Given the description of an element on the screen output the (x, y) to click on. 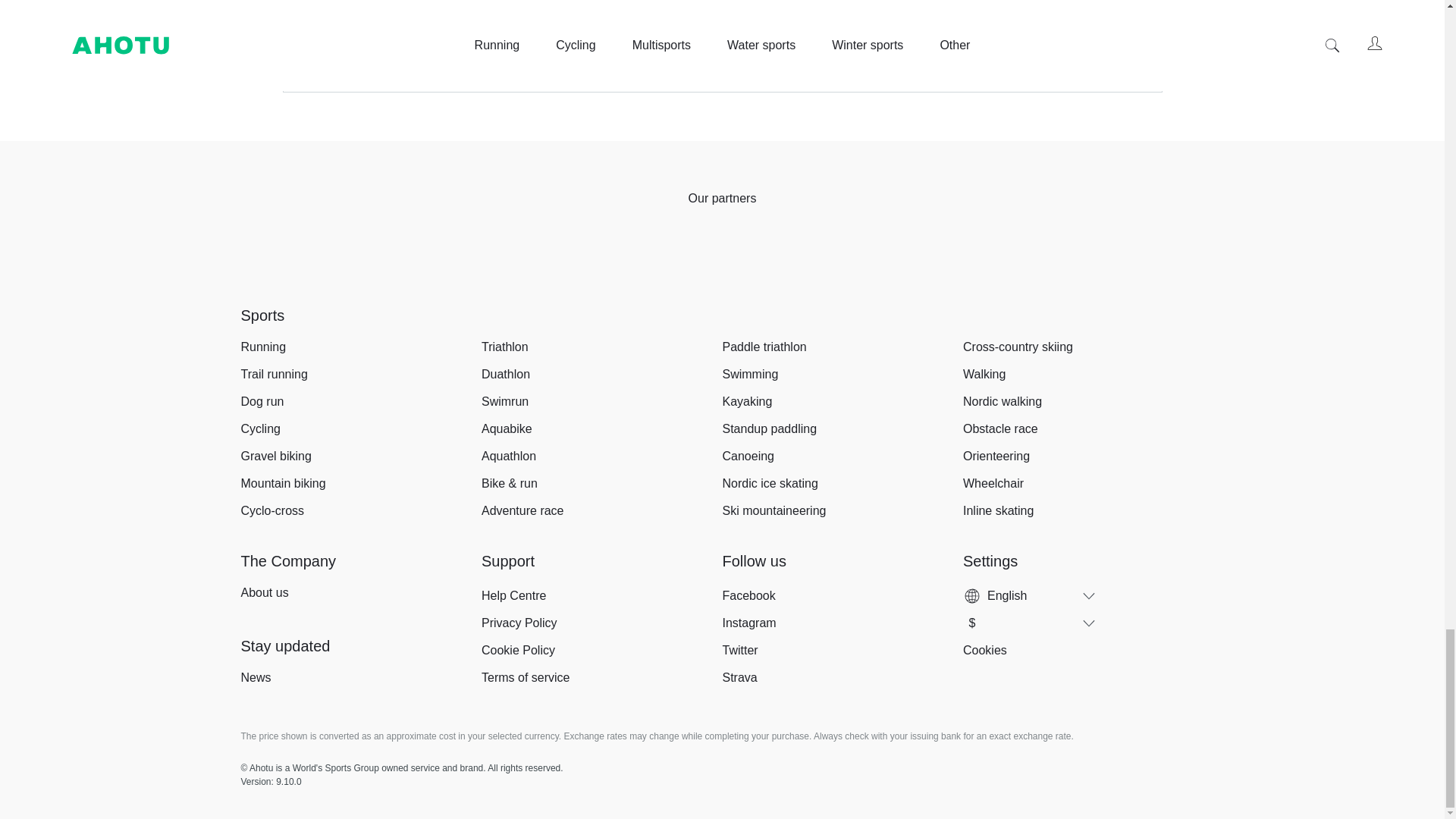
Cycling (361, 429)
Cross-country skiing (1083, 347)
Swimming (842, 374)
Duathlon (601, 374)
Paddle triathlon (842, 347)
Cyclo-cross (361, 511)
Gravel biking (361, 456)
Ski mountaineering (842, 511)
Running (361, 347)
Terms of Service (936, 60)
Walking (1083, 374)
Canoeing (842, 456)
Subscribe (1075, 25)
Kayaking (842, 402)
Aquathlon (601, 456)
